Given the description of an element on the screen output the (x, y) to click on. 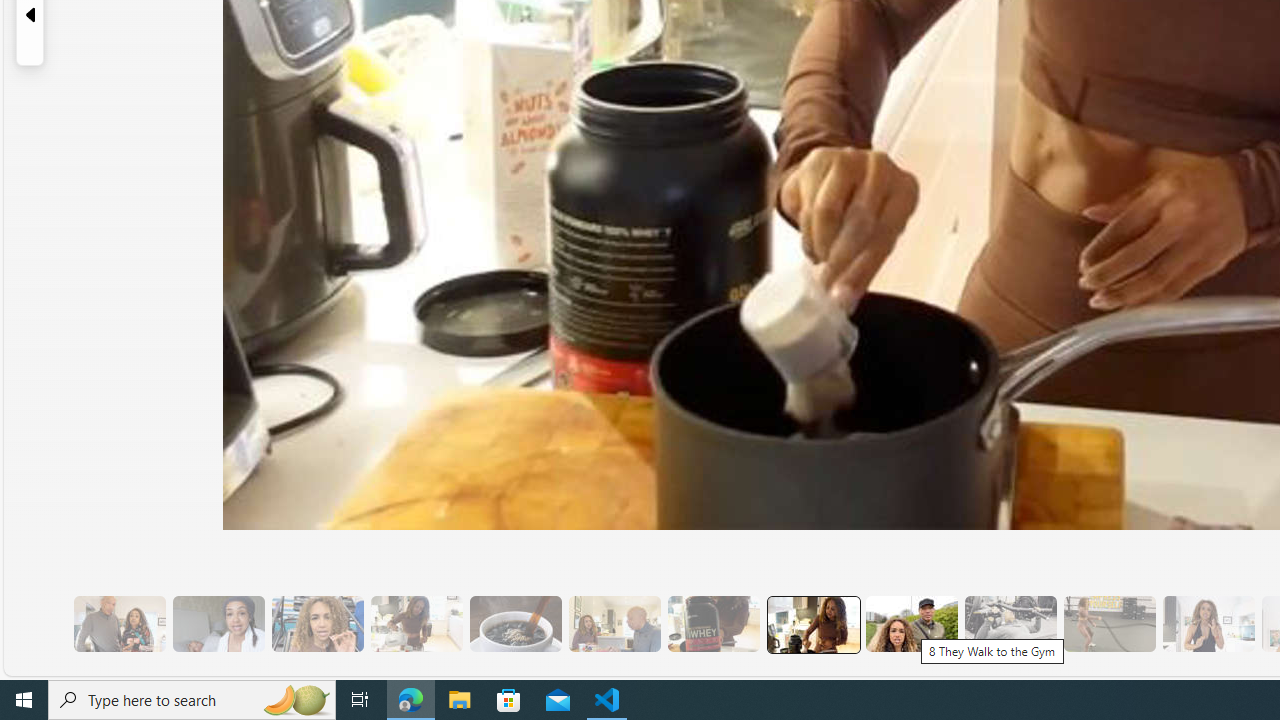
8 They Walk to the Gym (911, 624)
1 We Eat a Protein-Packed Pre-Workout Snack (217, 624)
3 They Drink Lemon Tea (416, 624)
6 Since Eating More Protein Her Training Has Improved (713, 624)
1 We Eat a Protein-Packed Pre-Workout Snack (217, 624)
5 She Eats Less Than Her Husband (614, 624)
5 She Eats Less Than Her Husband (614, 624)
See more (1086, 660)
7 They Don't Skip Meals (811, 624)
10 Then, They Do HIIT Cardio (1108, 624)
6 Since Eating More Protein Her Training Has Improved (713, 624)
2 They Use Protein Powder for Flavor (317, 624)
10 Then, They Do HIIT Cardio (1108, 624)
3 They Drink Lemon Tea (416, 624)
